Given the description of an element on the screen output the (x, y) to click on. 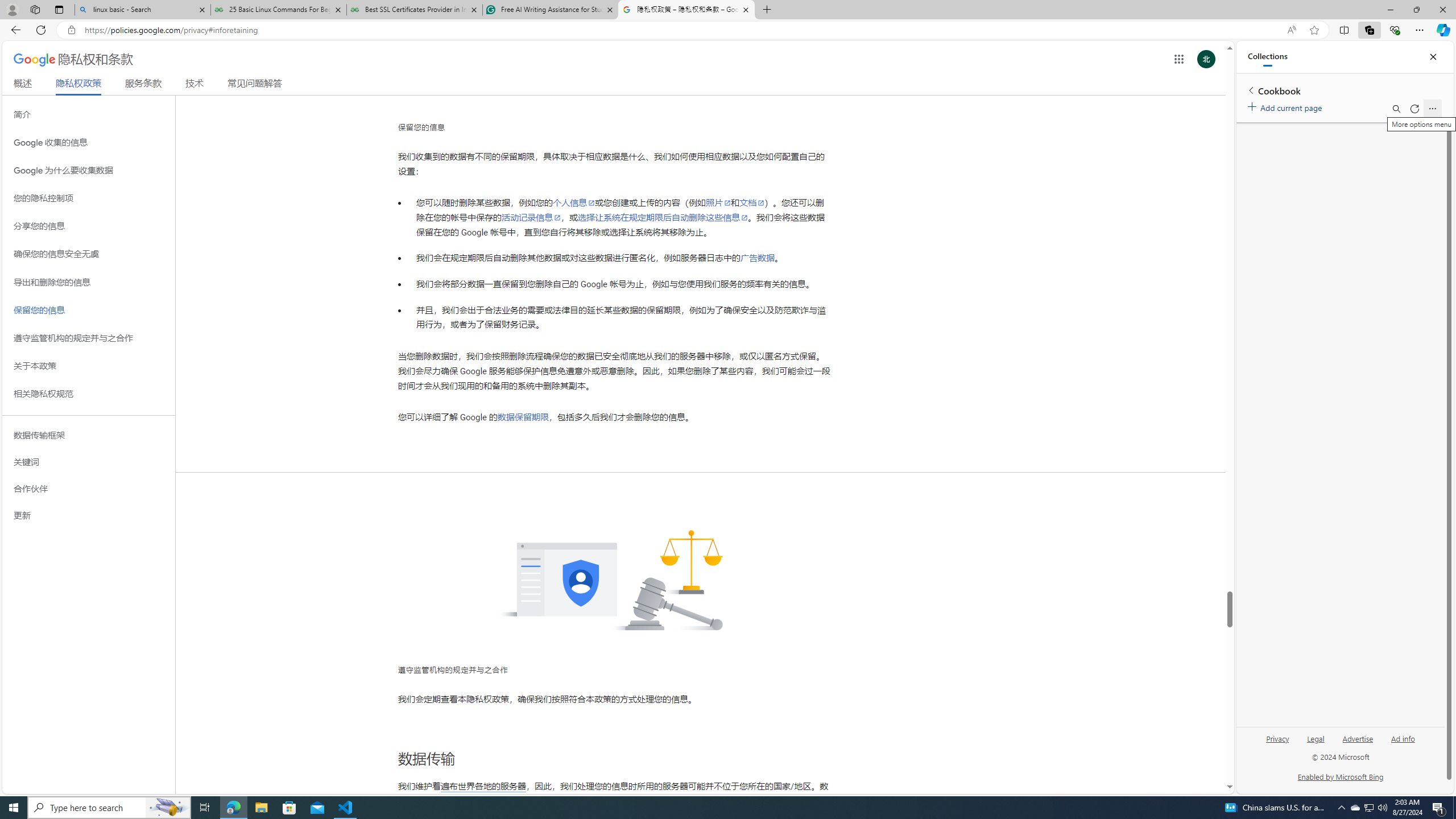
linux basic - Search (142, 9)
Free AI Writing Assistance for Students | Grammarly (550, 9)
25 Basic Linux Commands For Beginners - GeeksforGeeks (277, 9)
Back to list of collections (1250, 90)
